Given the description of an element on the screen output the (x, y) to click on. 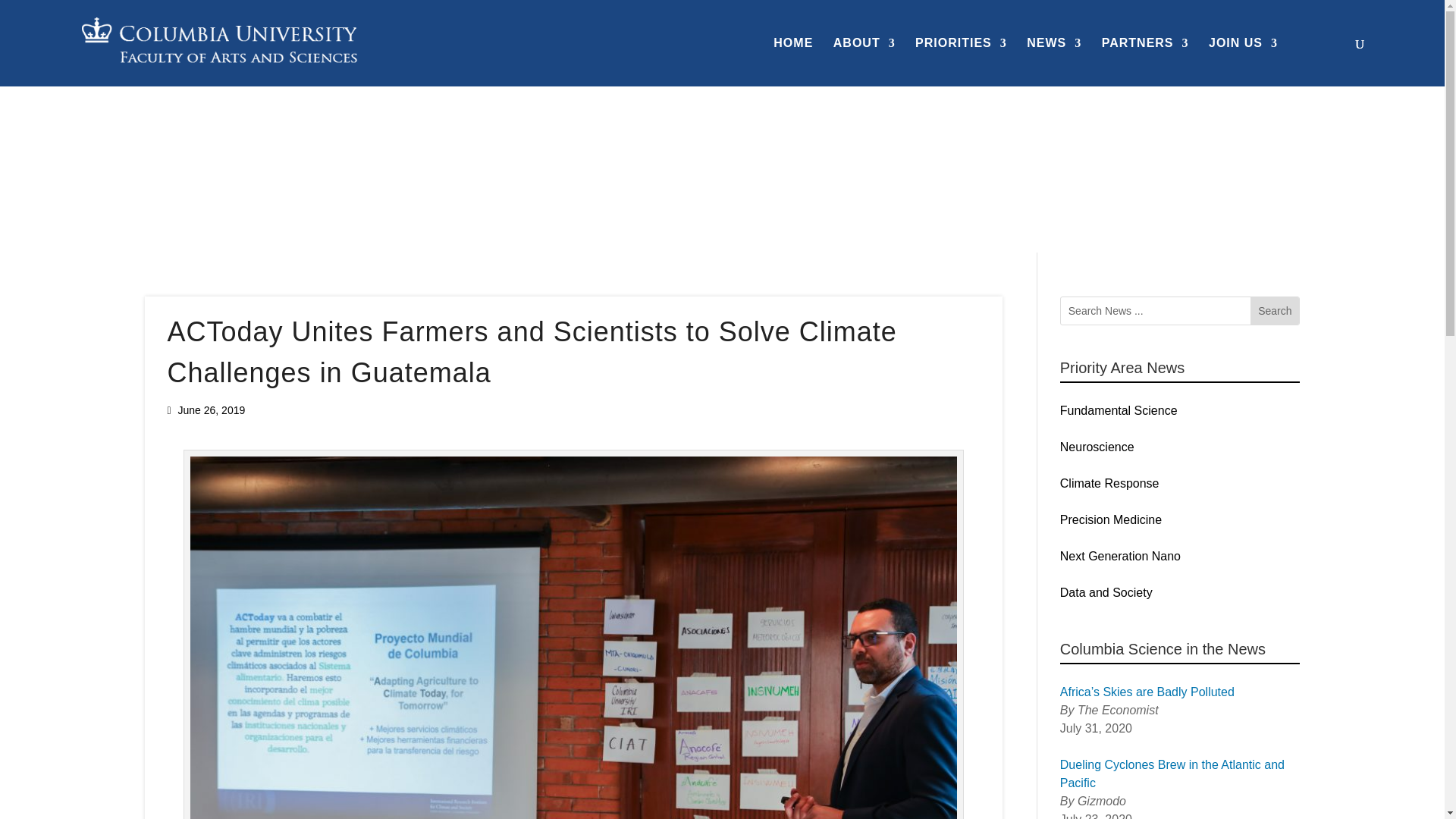
Climate Response News (210, 155)
NEWS (1053, 61)
Search (1274, 310)
PARTNERS (1145, 61)
JOIN US (1243, 61)
PRIORITIES (961, 61)
ABOUT (863, 61)
Search (1274, 310)
